Given the description of an element on the screen output the (x, y) to click on. 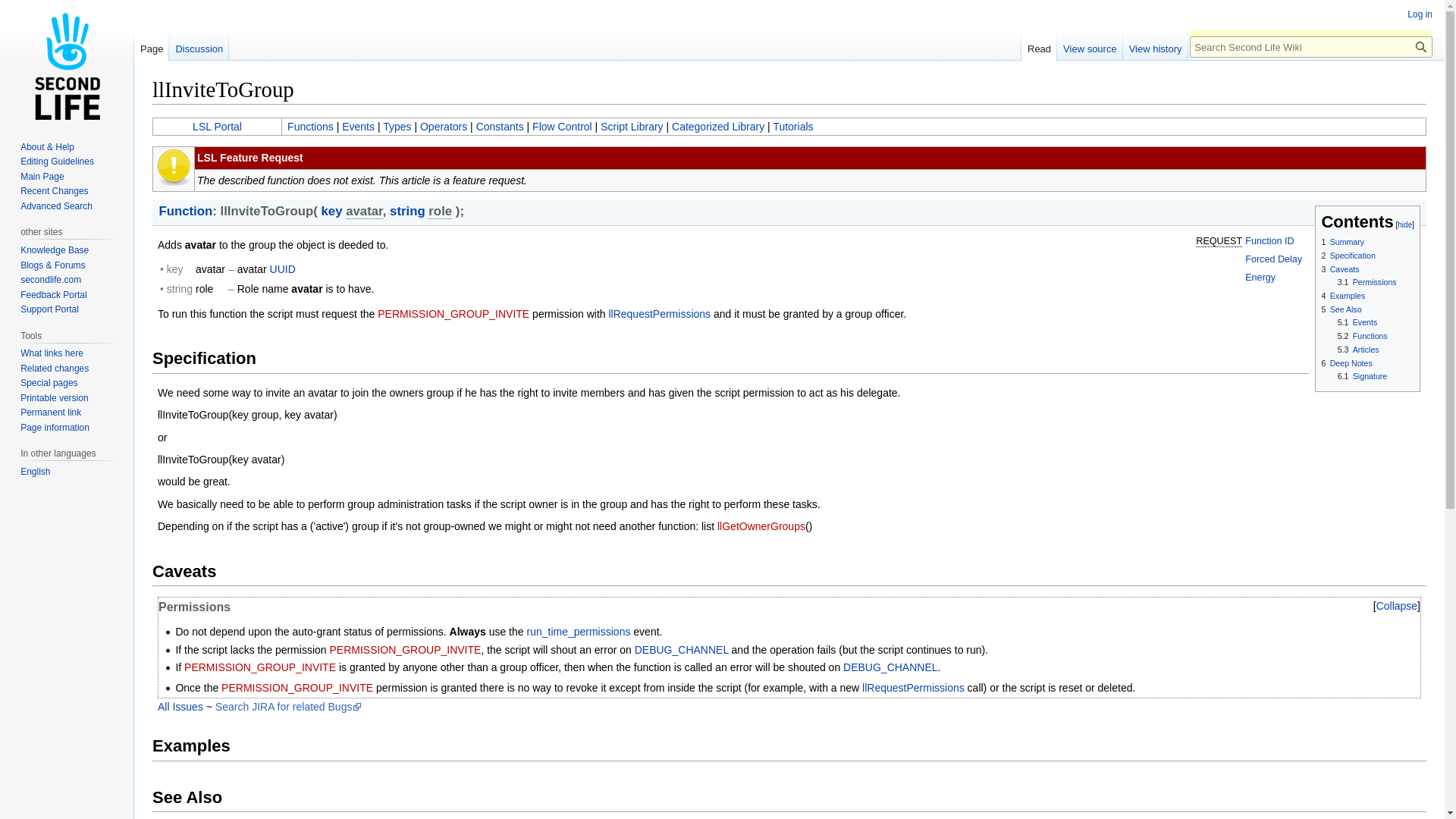
Flow Control (562, 126)
2 Specification (1347, 255)
4 Examples (1342, 295)
Search (1420, 46)
Types (396, 126)
3 Caveats (1339, 268)
Tutorials (792, 126)
Operators (443, 126)
Functions (309, 126)
Categorized Library (717, 126)
